Given the description of an element on the screen output the (x, y) to click on. 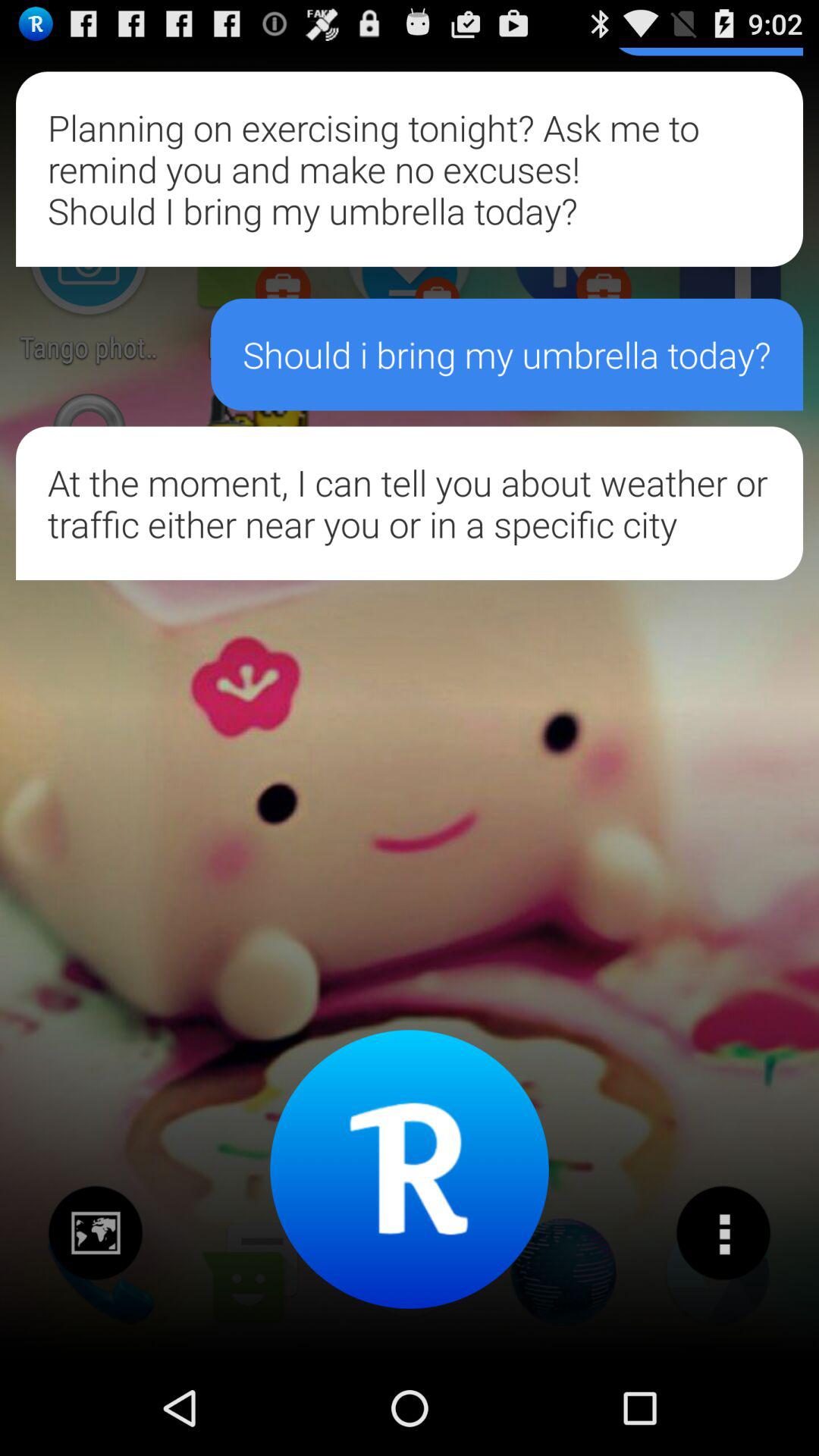
select some image (95, 1232)
